Given the description of an element on the screen output the (x, y) to click on. 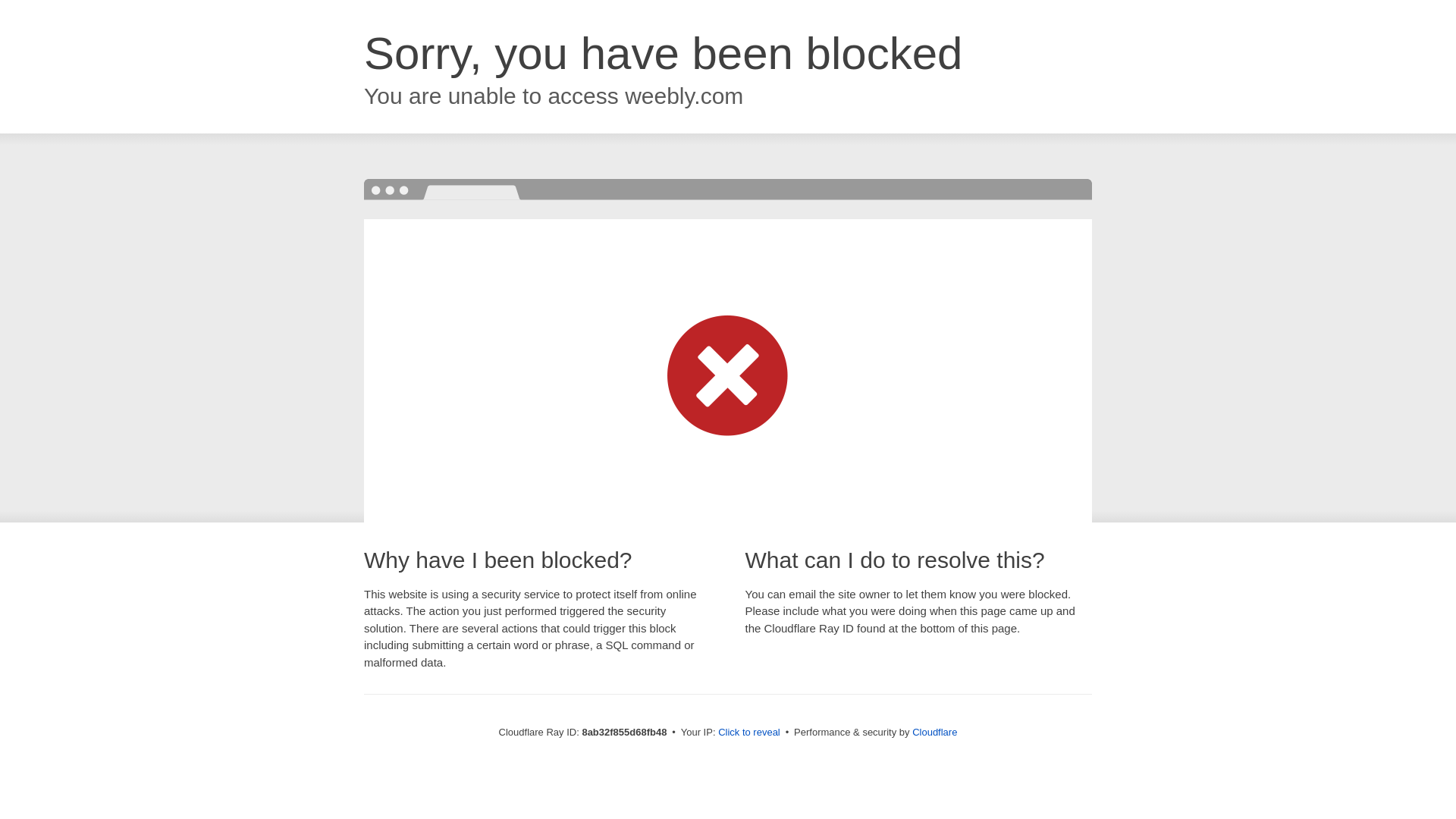
Cloudflare (934, 731)
Click to reveal (748, 732)
